Given the description of an element on the screen output the (x, y) to click on. 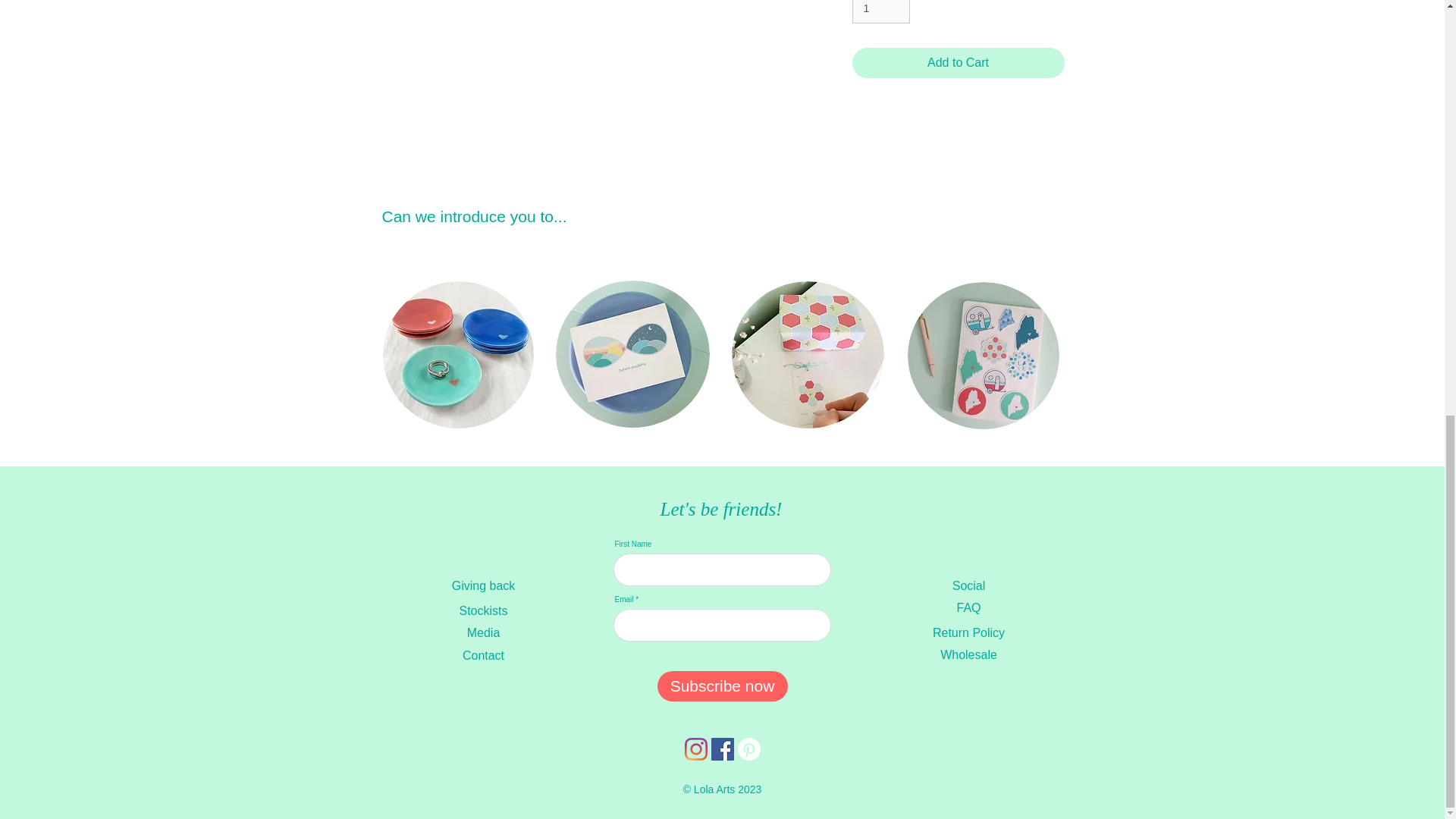
Contact (483, 655)
Social (968, 585)
Subscribe now (721, 685)
Return Policy (968, 633)
Wholesale (968, 654)
Add to Cart (957, 62)
FAQ (968, 607)
1 (880, 11)
Media (483, 633)
Giving back (483, 585)
Stockists (483, 611)
